Given the description of an element on the screen output the (x, y) to click on. 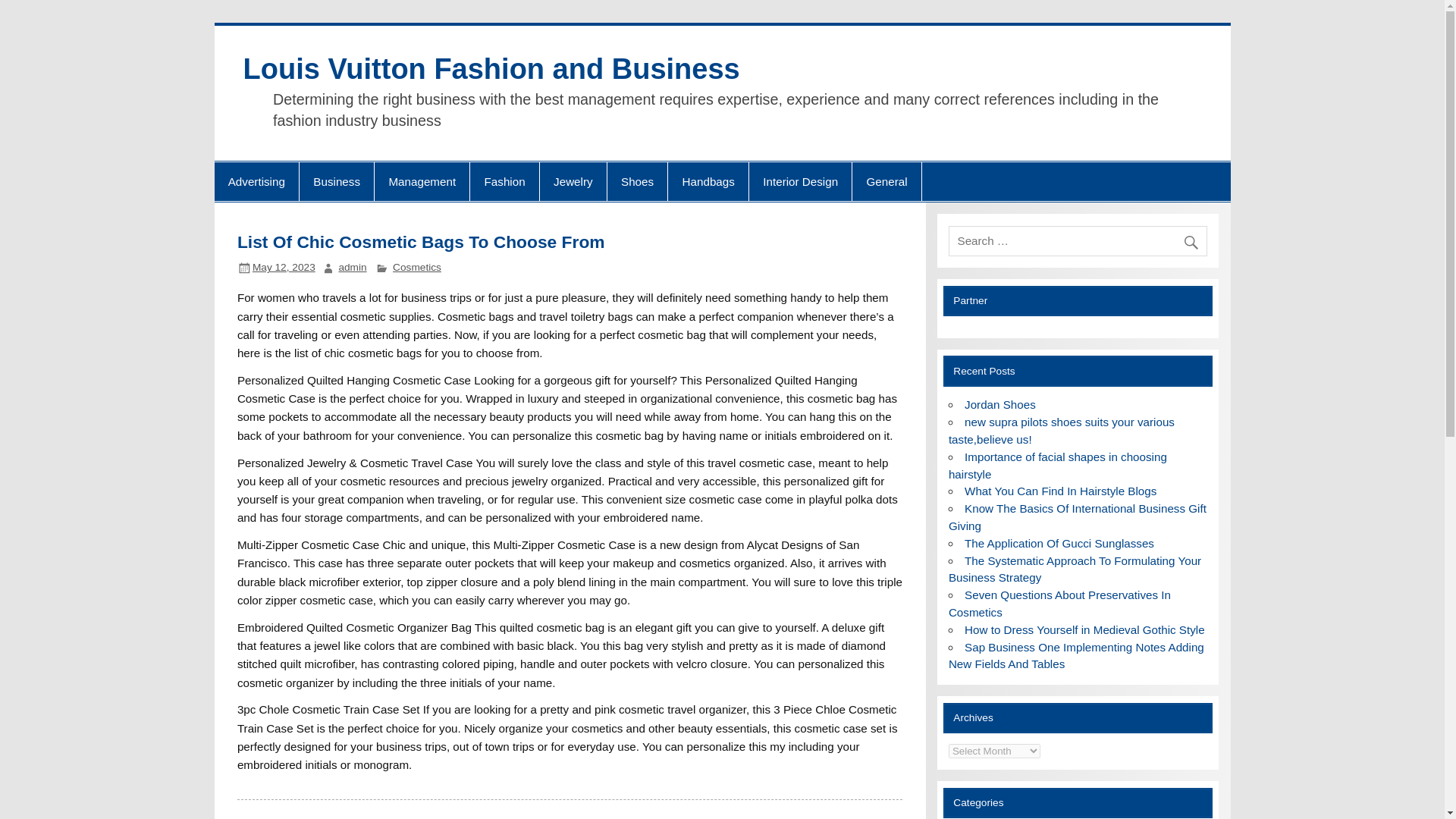
Handbags (708, 181)
The Application Of Gucci Sunglasses (1058, 543)
General (886, 181)
Shoes (637, 181)
Jewelry (573, 181)
Interior Design (800, 181)
Management (421, 181)
admin (351, 266)
Business (336, 181)
What You Can Find In Hairstyle Blogs (1059, 490)
Seven Questions About Preservatives In Cosmetics (1059, 603)
Importance of facial shapes in choosing hairstyle (1058, 465)
